Given the description of an element on the screen output the (x, y) to click on. 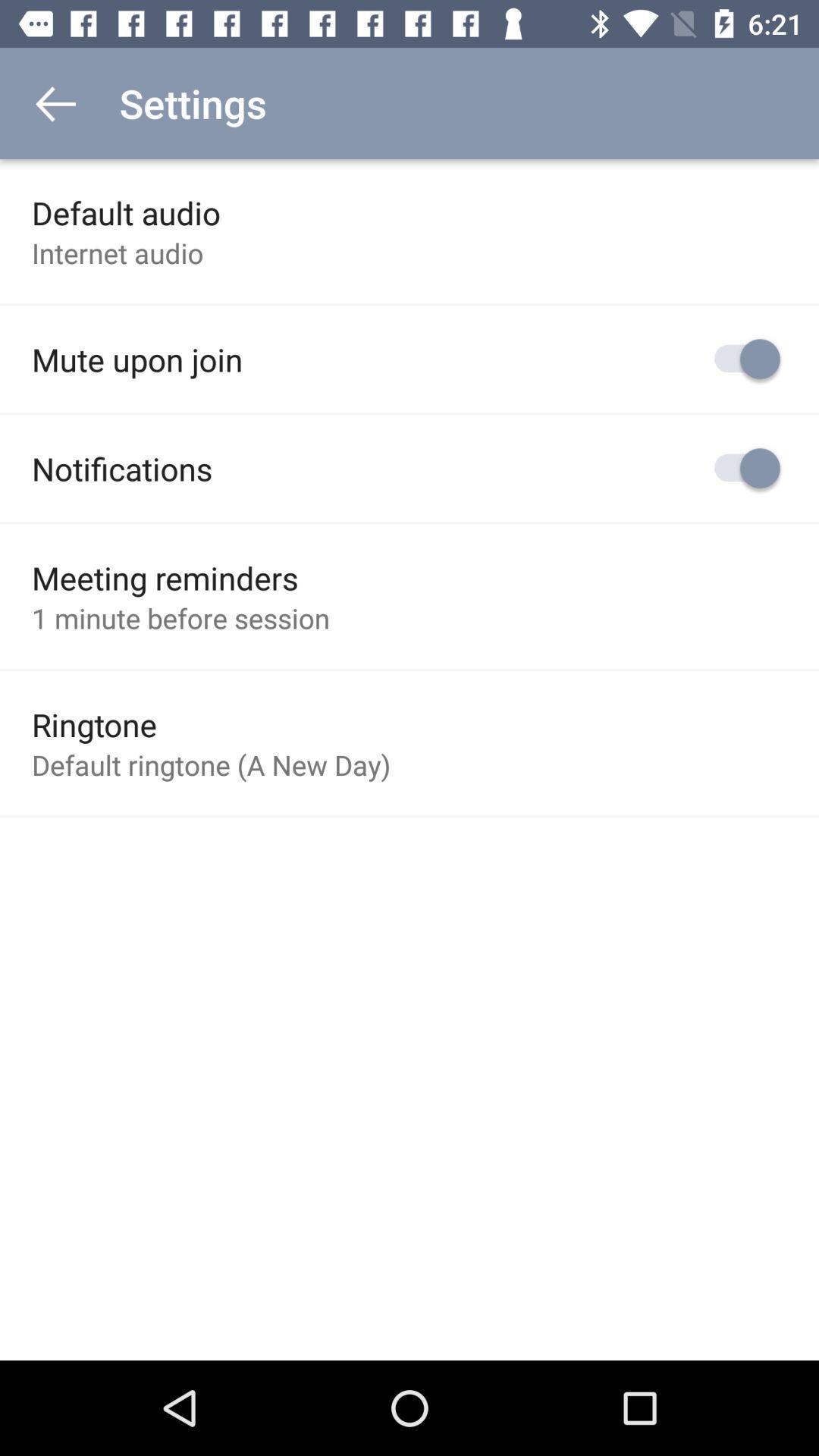
turn on icon above default audio (55, 103)
